Given the description of an element on the screen output the (x, y) to click on. 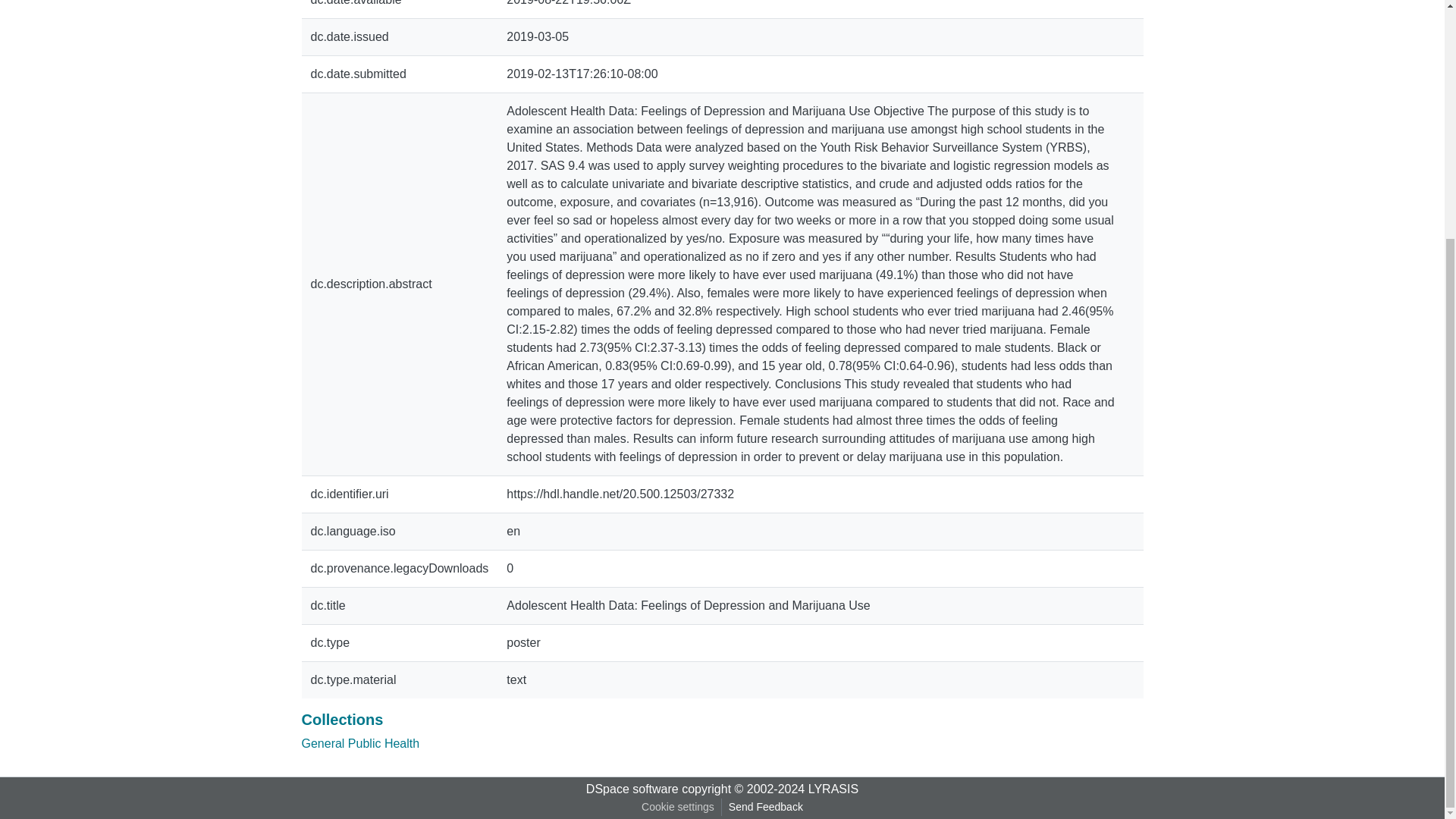
Cookie settings (677, 806)
Send Feedback (765, 806)
DSpace software (632, 788)
LYRASIS (833, 788)
General Public Health (360, 743)
